Given the description of an element on the screen output the (x, y) to click on. 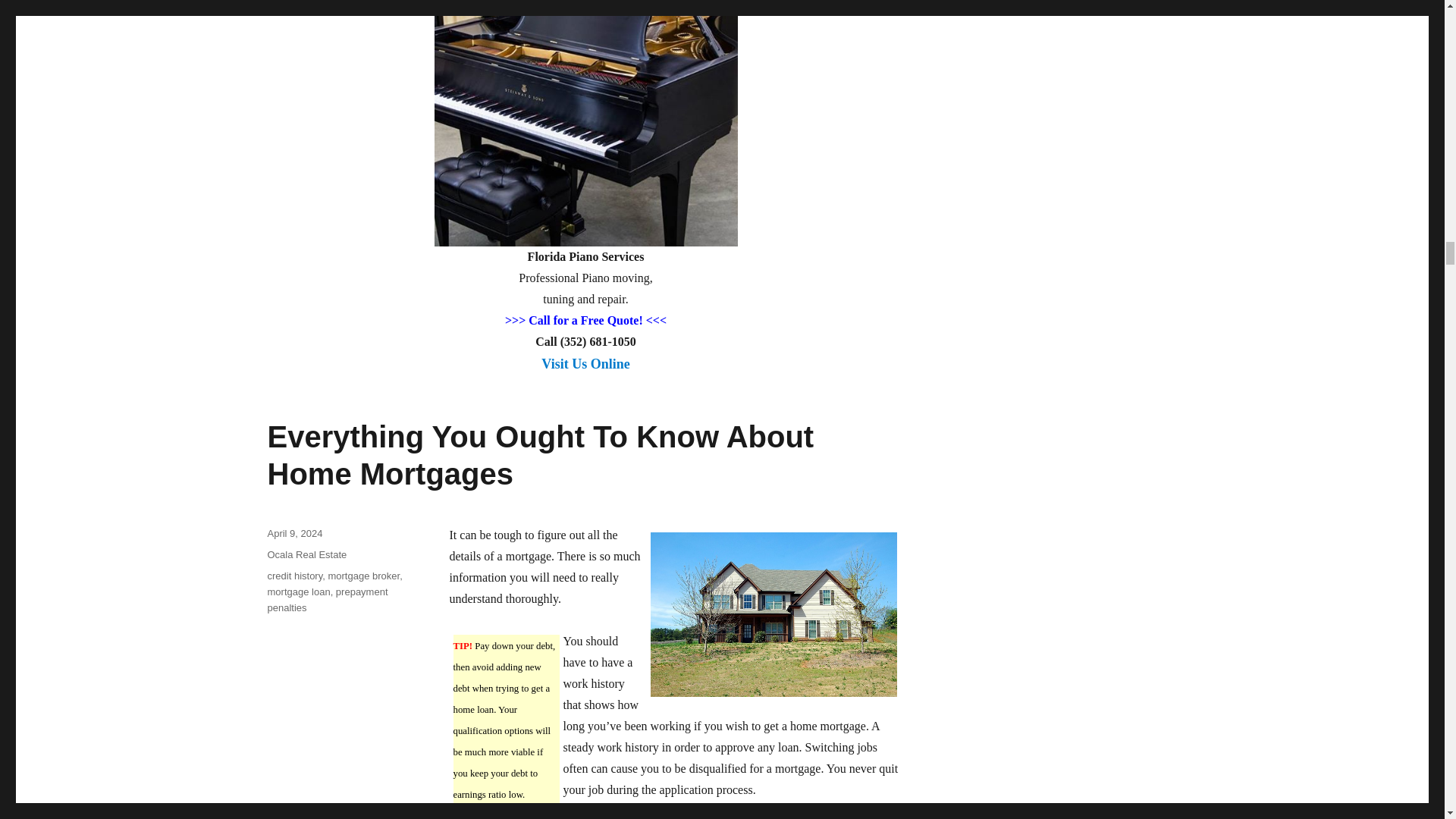
mortgage loan (298, 591)
prepayment penalties (326, 599)
Visit Us Online (585, 372)
credit history (293, 575)
Ocala Real Estate (306, 554)
Everything You Ought To Know About Home Mortgages (539, 455)
April 9, 2024 (293, 532)
mortgage broker (362, 575)
